Given the description of an element on the screen output the (x, y) to click on. 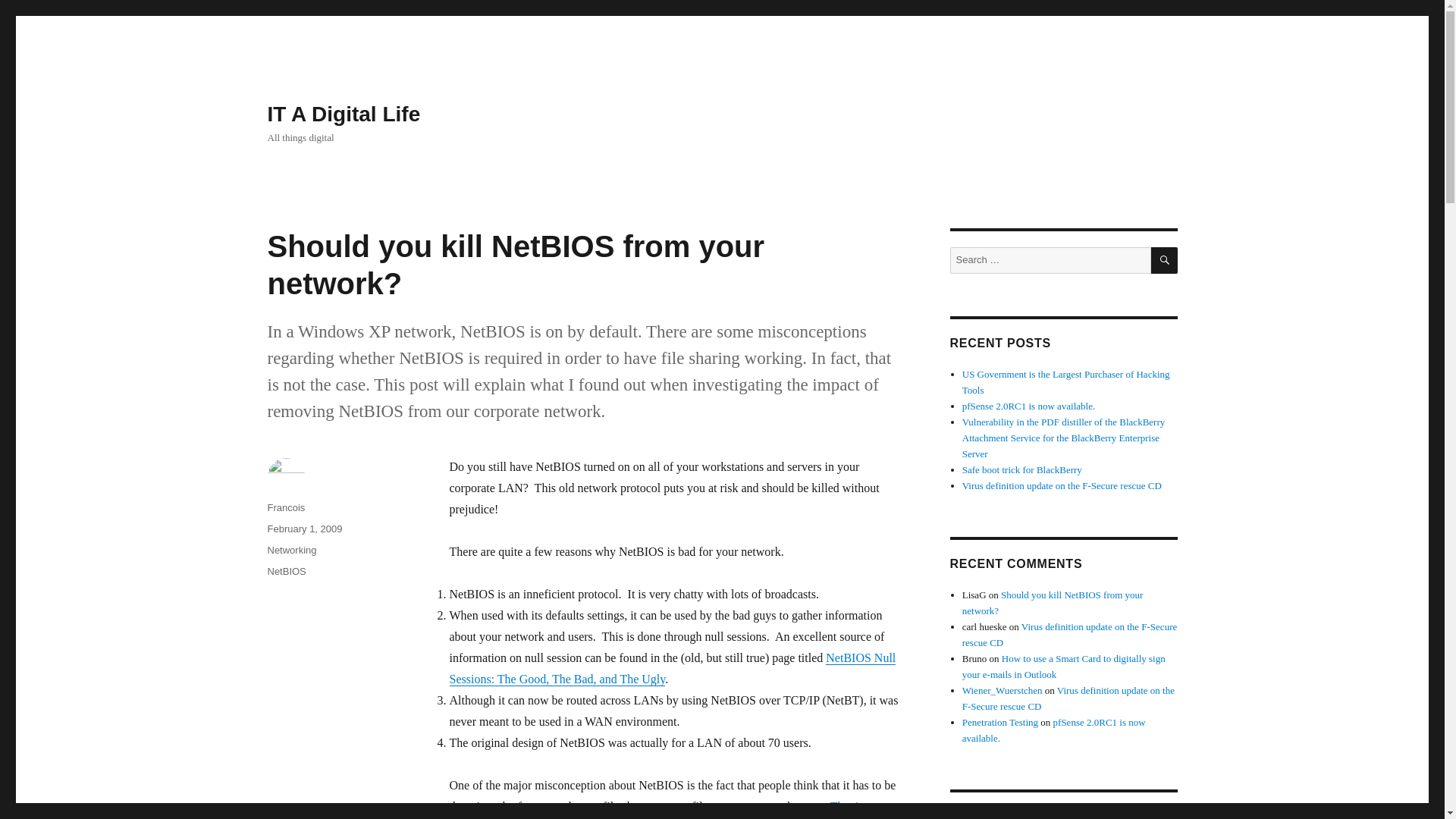
Should you kill NetBIOS from your network? (1052, 602)
pfSense 2.0RC1 is now available. (1028, 405)
That is actually not the case (655, 809)
February 1, 2009 (304, 528)
Penetration Testing (1000, 722)
Virus definition update on the F-Secure rescue CD (1061, 485)
Networking (290, 550)
Safe boot trick for BlackBerry (1021, 469)
SEARCH (1164, 260)
